Given the description of an element on the screen output the (x, y) to click on. 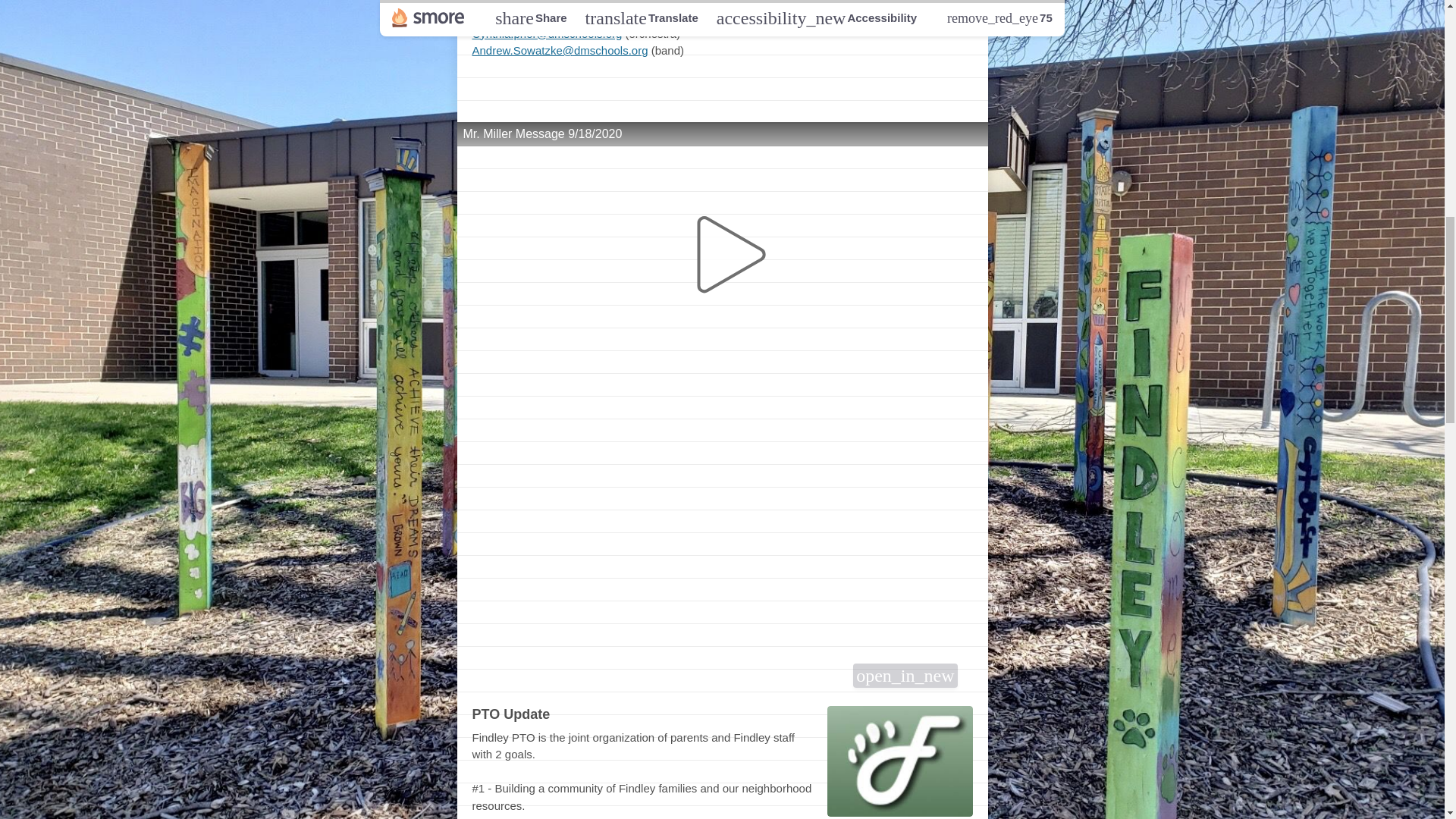
Mr. (650, 94)
Message (772, 94)
Miller's (700, 94)
